Given the description of an element on the screen output the (x, y) to click on. 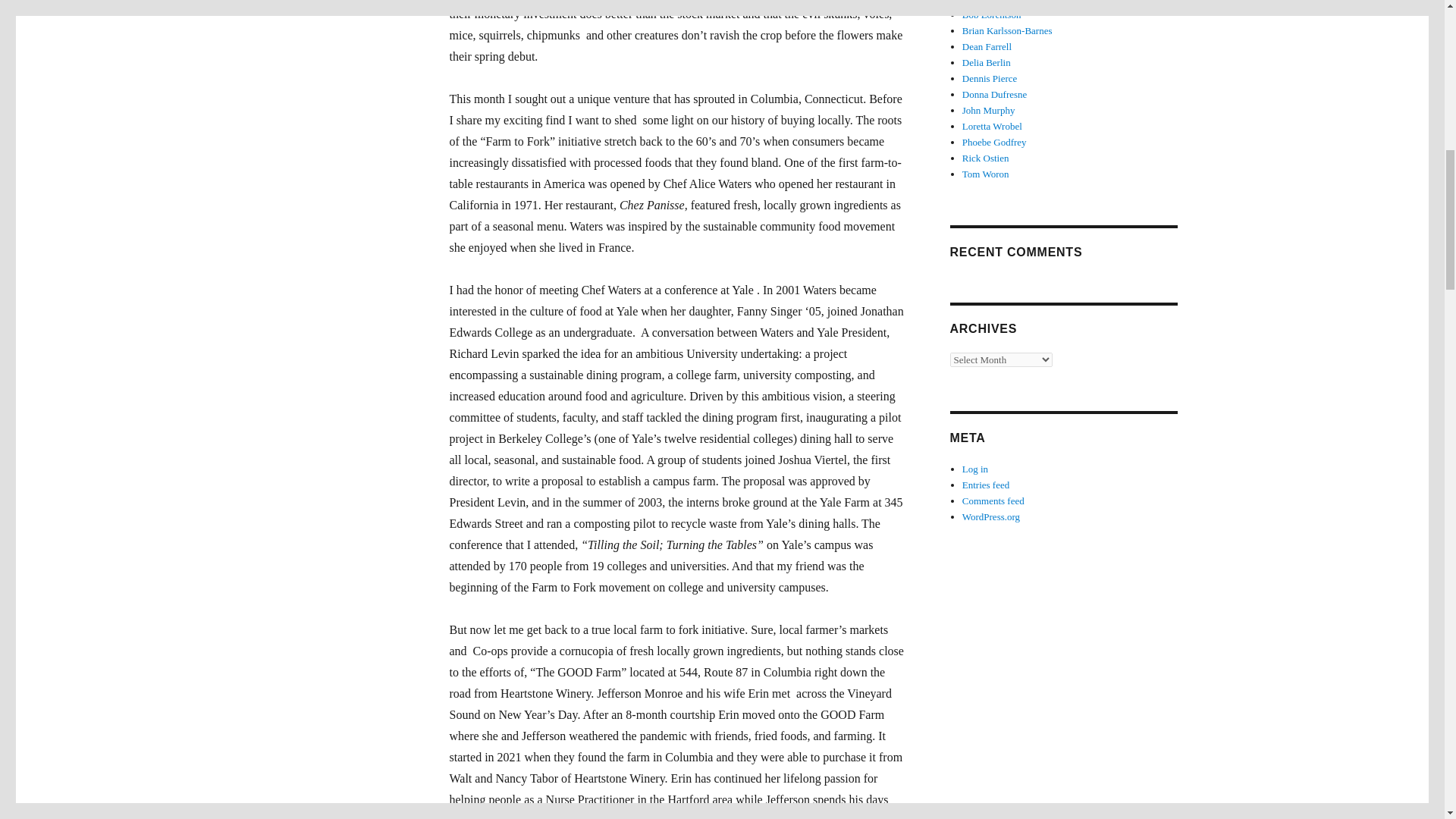
Brian Karlsson-Barnes (1007, 30)
Log in (975, 469)
Entries feed (985, 484)
Loretta Wrobel (992, 125)
Comments feed (993, 500)
Delia Berlin (986, 61)
Phoebe Godfrey (994, 142)
Rick Ostien (985, 157)
Dean Farrell (986, 46)
John Murphy (988, 110)
